Given the description of an element on the screen output the (x, y) to click on. 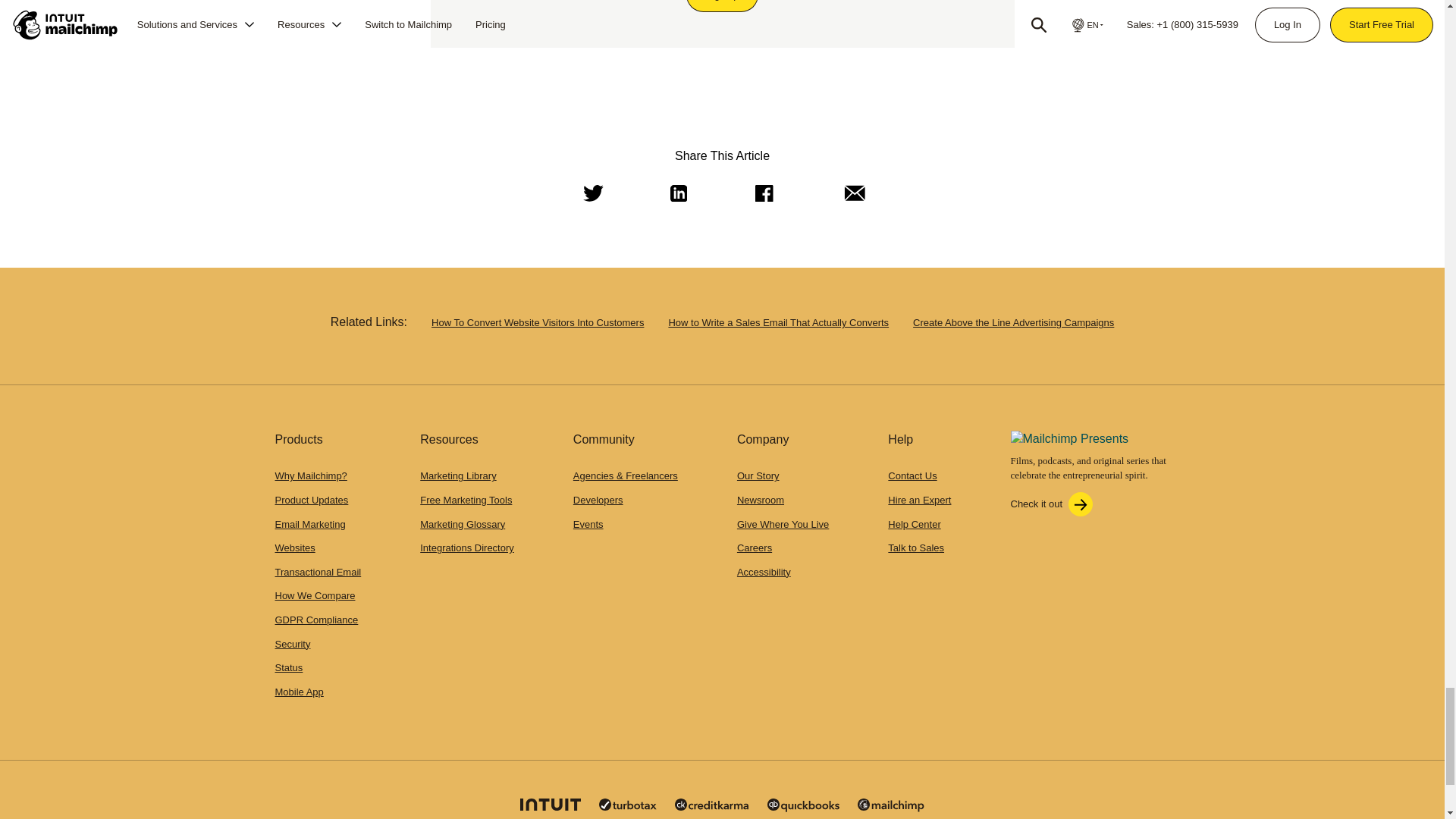
Email this article (850, 193)
How to Write a Sales Email That Actually Converts (778, 322)
Share this article on Facebook (762, 193)
How To Convert Website Visitors Into Customers (536, 322)
Share this article on Twitter (590, 193)
Sign up (722, 6)
